Given the description of an element on the screen output the (x, y) to click on. 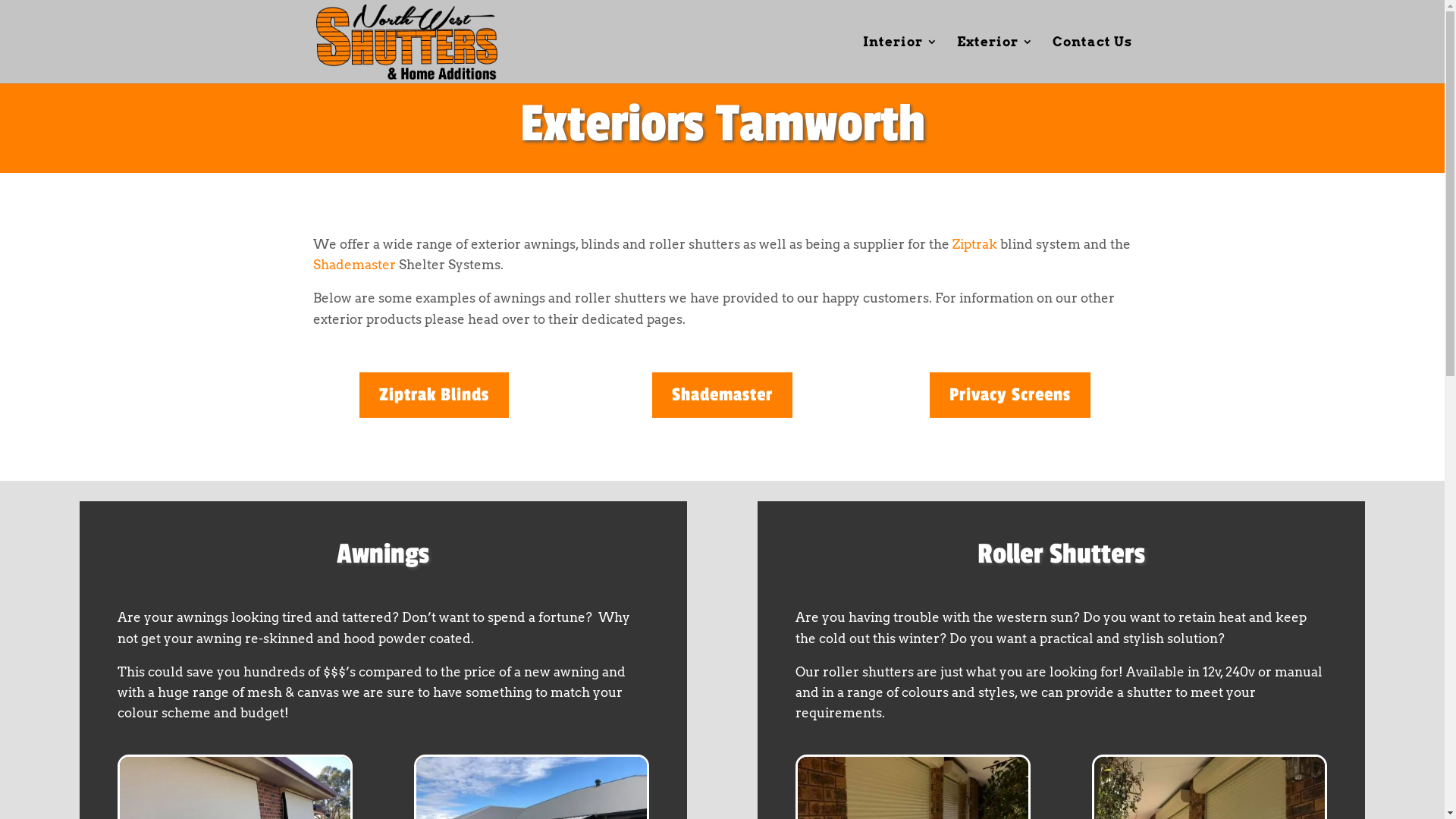
Ziptrak Element type: text (974, 243)
Interior Element type: text (900, 59)
Contact Us Element type: text (1092, 59)
Privacy Screens Element type: text (1010, 394)
Shademaster Element type: text (353, 264)
Exterior Element type: text (995, 59)
Shademaster Element type: text (721, 394)
Ziptrak Blinds Element type: text (433, 394)
